Given the description of an element on the screen output the (x, y) to click on. 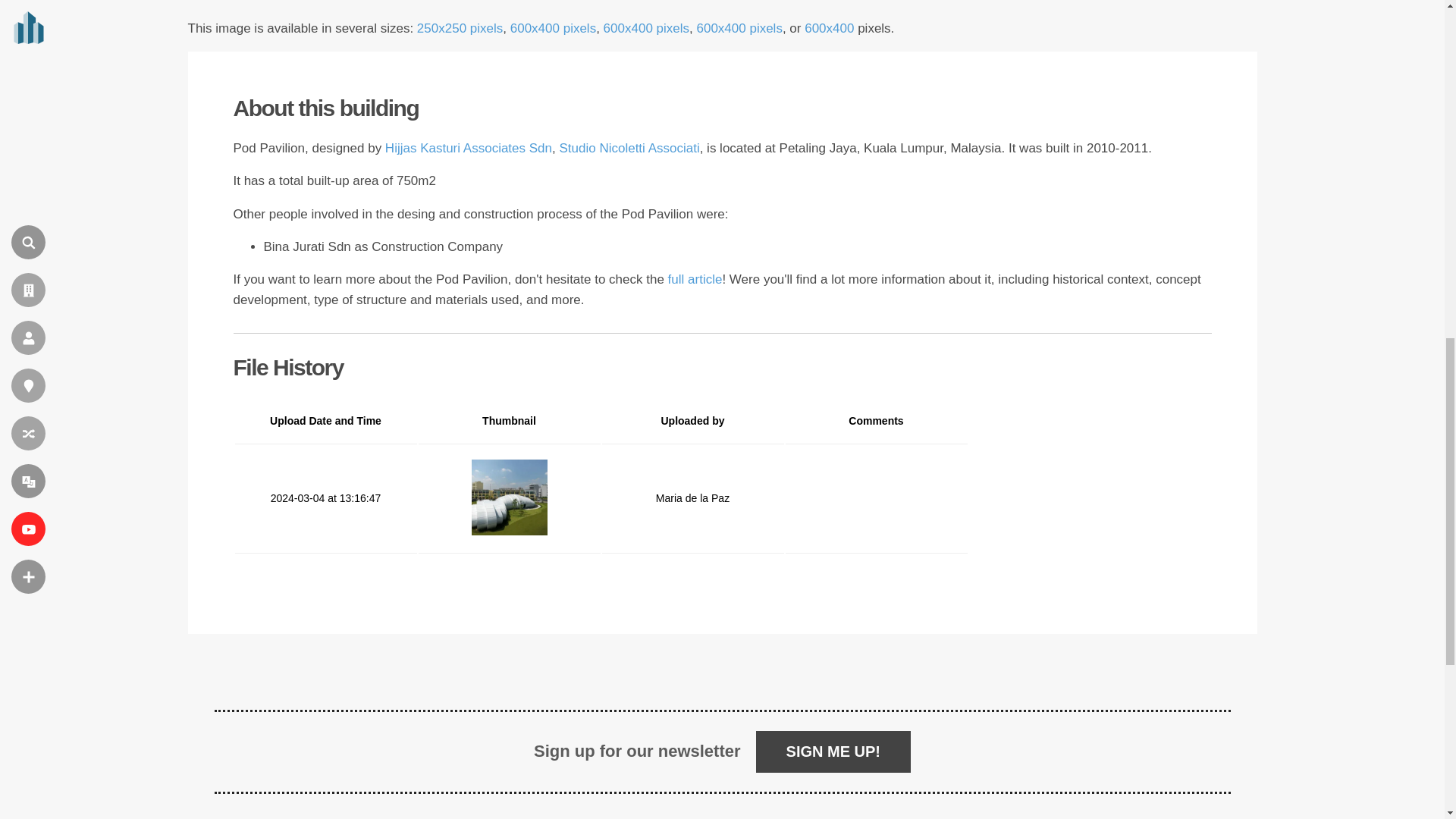
Hijjas Kasturi Associates Sdn (468, 147)
Studio Nicoletti Associati (628, 147)
600x400 pixels (646, 28)
600x400 pixels (738, 28)
SIGN ME UP! (833, 752)
600x400 pixels (553, 28)
600x400 (829, 28)
full article (695, 278)
250x250 pixels (459, 28)
